Given the description of an element on the screen output the (x, y) to click on. 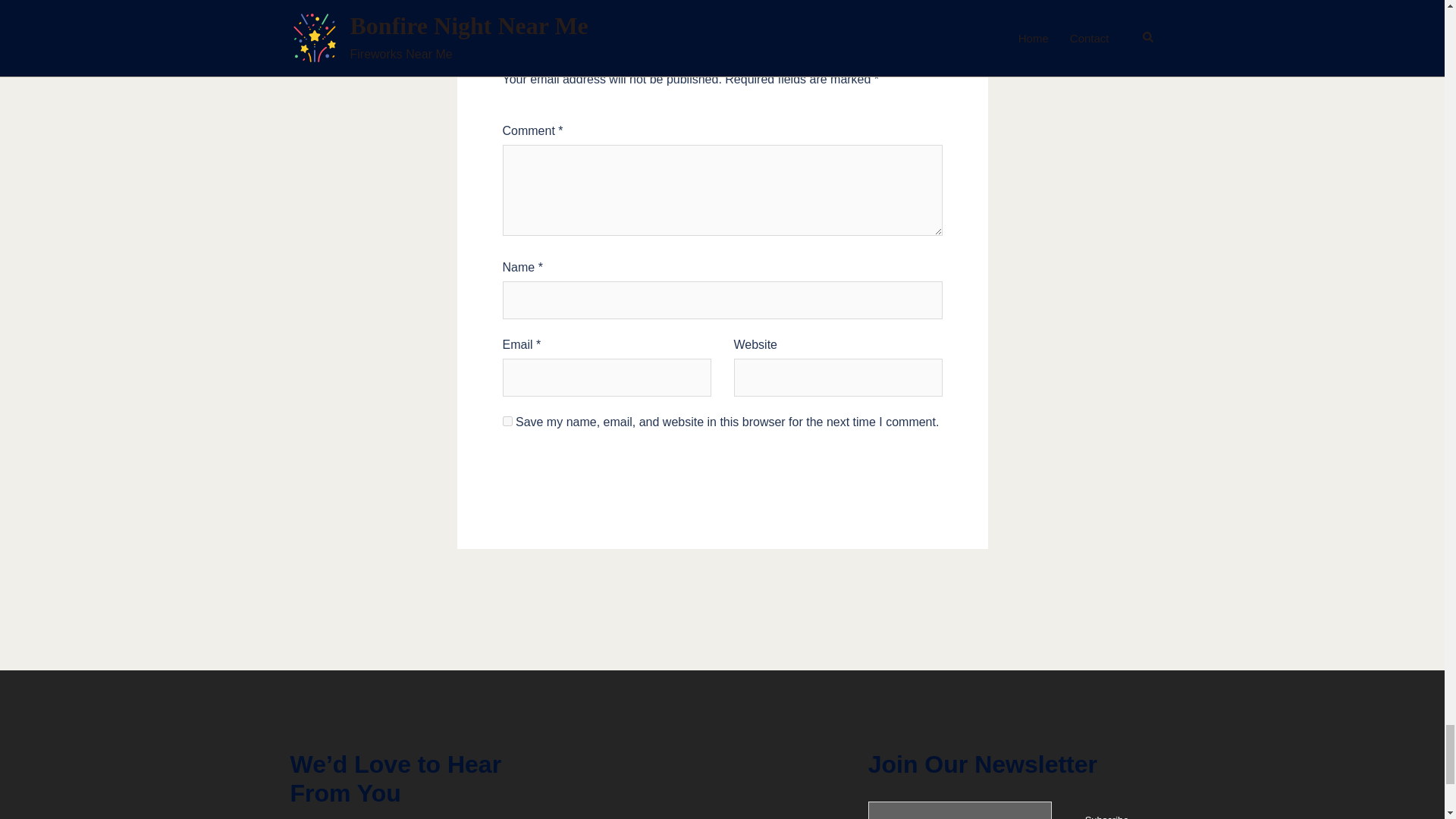
Post Comment (722, 484)
yes (507, 420)
